Given the description of an element on the screen output the (x, y) to click on. 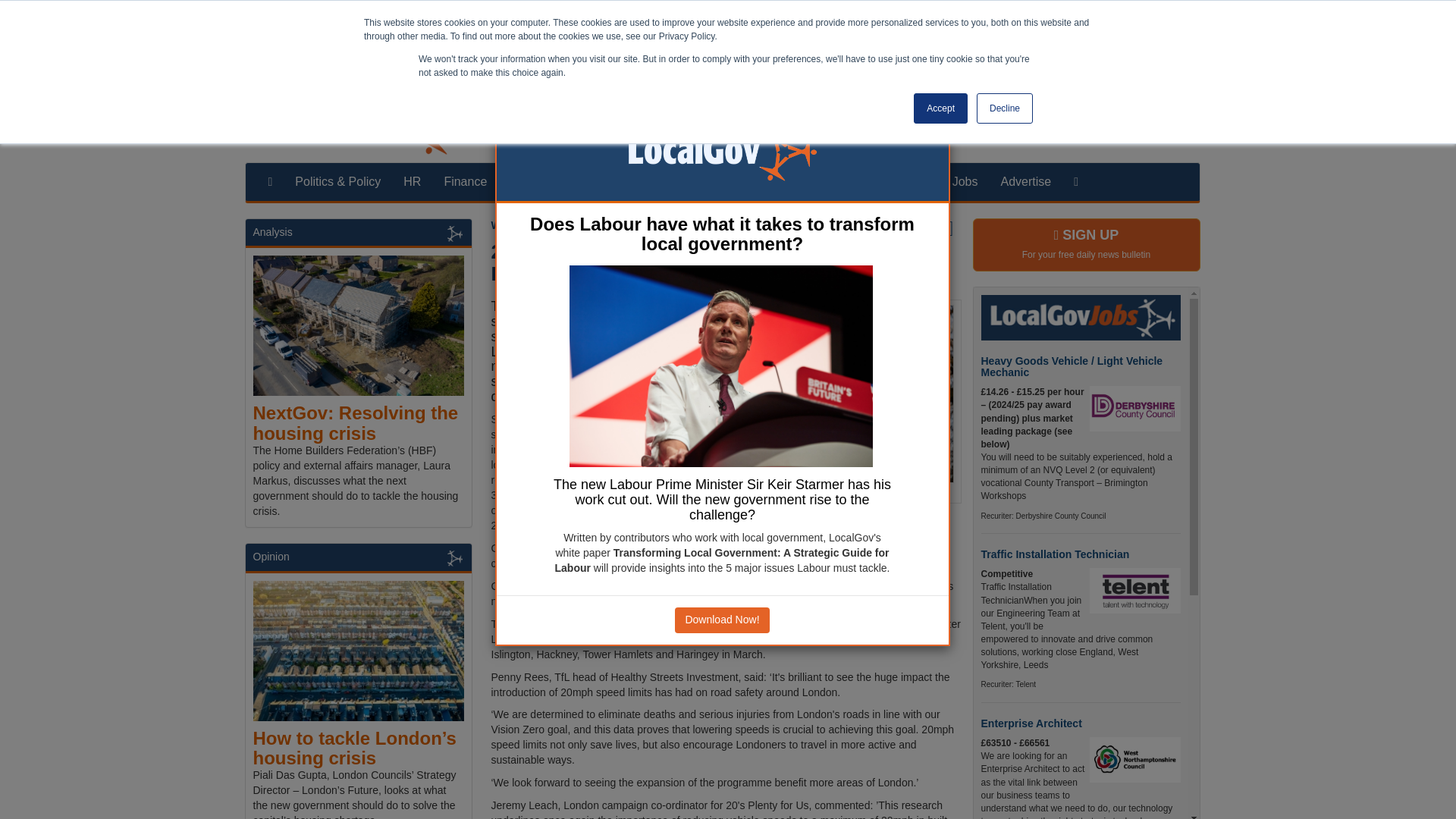
Finance (464, 181)
Decline (1004, 108)
Jobs (965, 181)
 Traffic Installation Technician (1055, 553)
Accept (941, 108)
William Eichler (529, 224)
instagram (1166, 133)
Analysis (272, 232)
linkedin (1150, 133)
twitter (1134, 133)
facebook (1119, 133)
Products (905, 181)
Rss (1181, 133)
Analysis (772, 181)
Advertise (1025, 181)
